Given the description of an element on the screen output the (x, y) to click on. 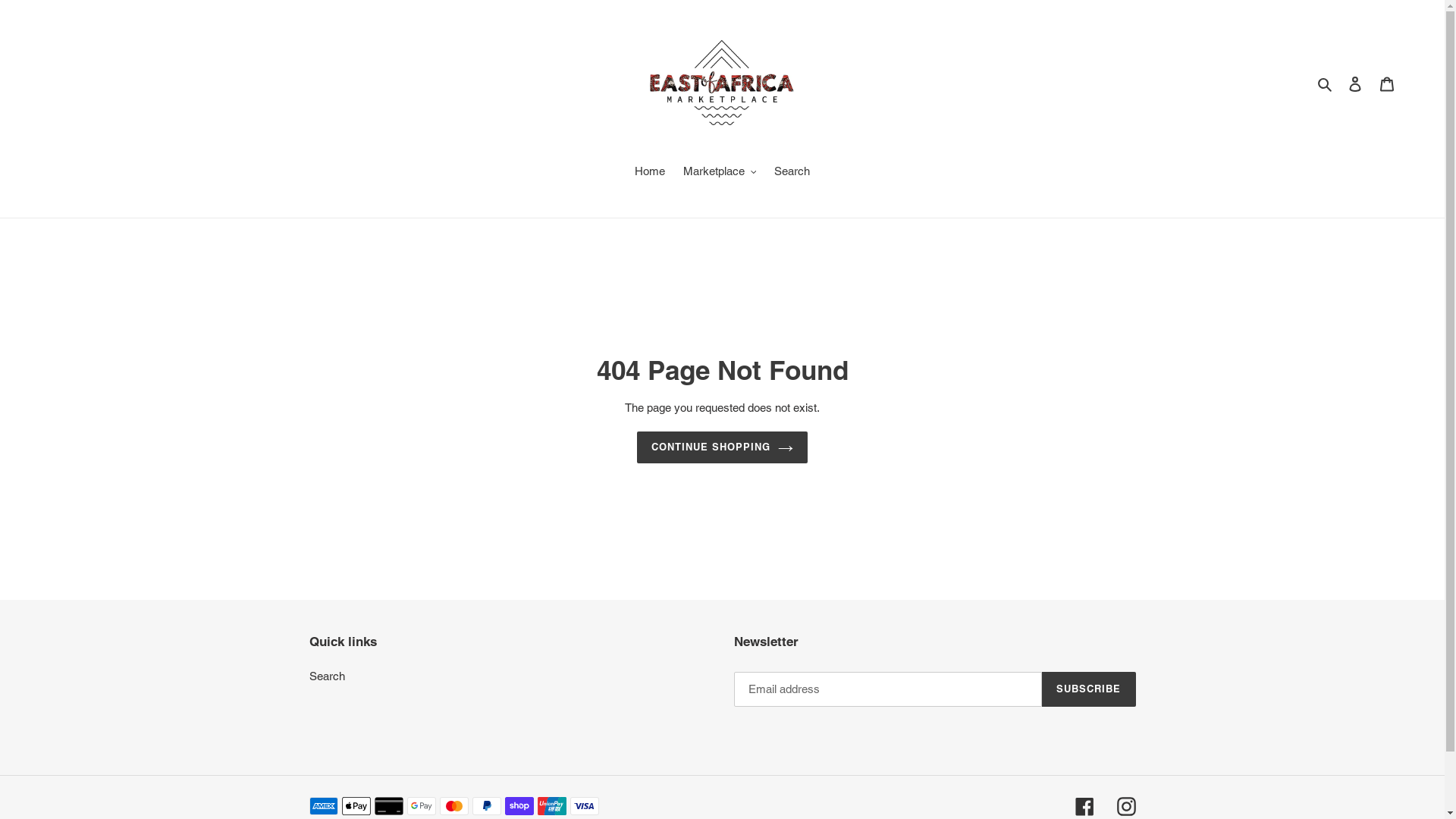
Search Element type: text (1325, 83)
Home Element type: text (649, 172)
Facebook Element type: text (1084, 806)
Marketplace Element type: text (719, 172)
Instagram Element type: text (1125, 806)
Cart Element type: text (1386, 83)
Log in Element type: text (1355, 83)
Search Element type: text (791, 172)
CONTINUE SHOPPING Element type: text (722, 448)
Search Element type: text (327, 676)
SUBSCRIBE Element type: text (1088, 689)
